Given the description of an element on the screen output the (x, y) to click on. 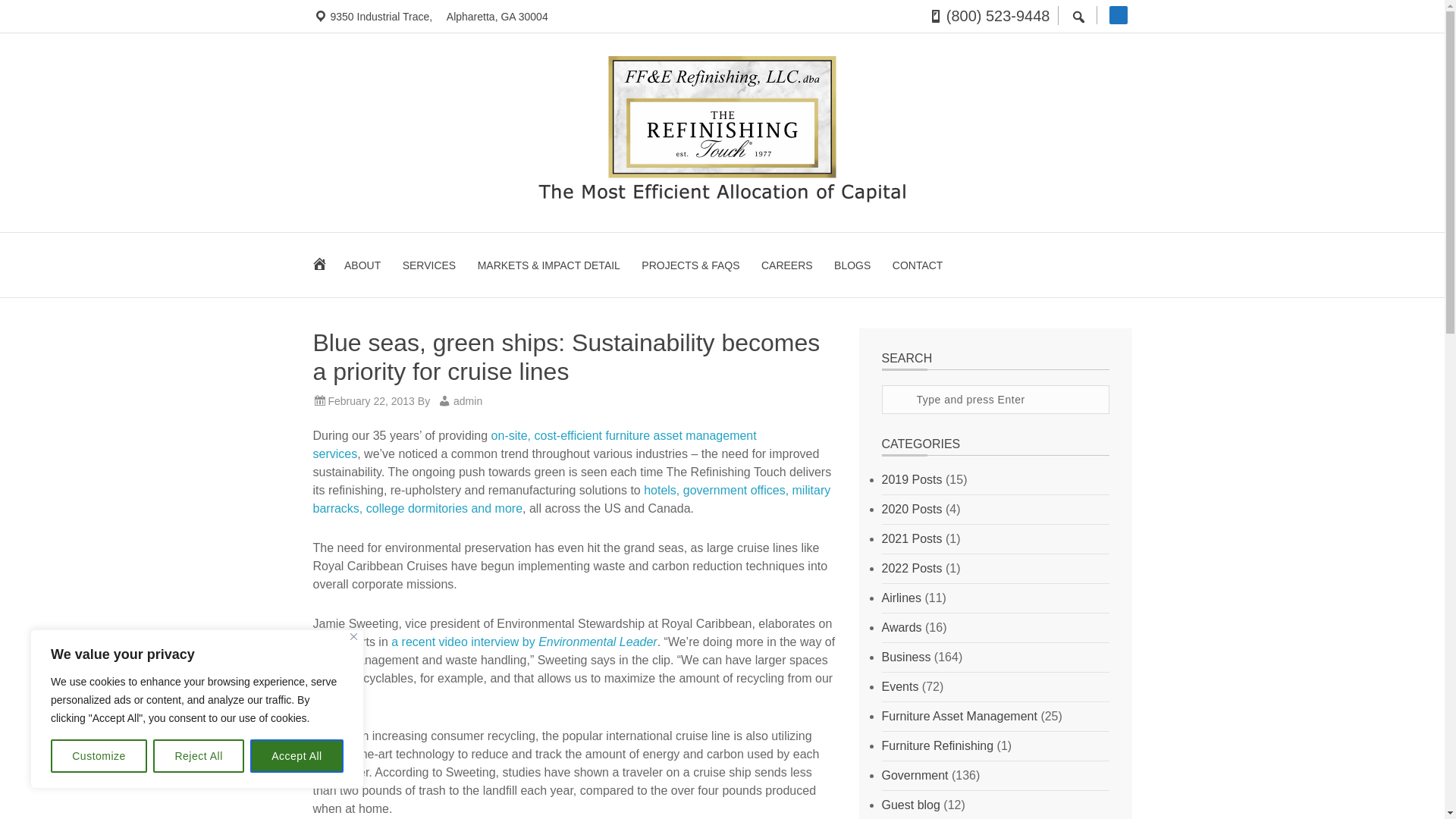
Customize (98, 756)
Accept All (296, 756)
SERVICES (429, 264)
ABOUT (362, 264)
The Refinishing Touch (722, 199)
The Refinishing Touch (722, 129)
Reject All (198, 756)
Search (1131, 391)
Search (1131, 391)
